Given the description of an element on the screen output the (x, y) to click on. 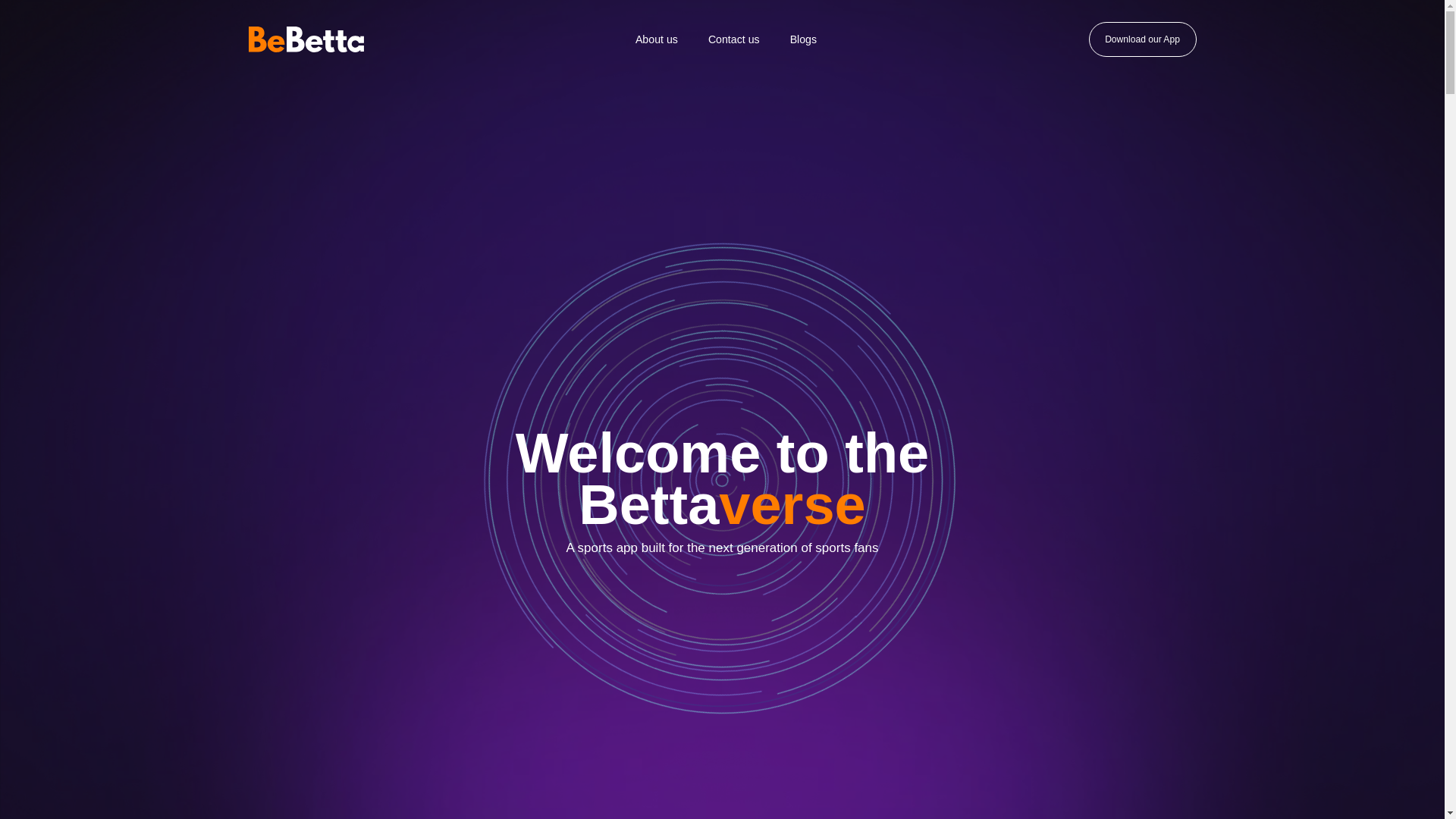
About us (656, 38)
Contact us (733, 38)
Blogs (802, 38)
Download our App (1142, 39)
